Given the description of an element on the screen output the (x, y) to click on. 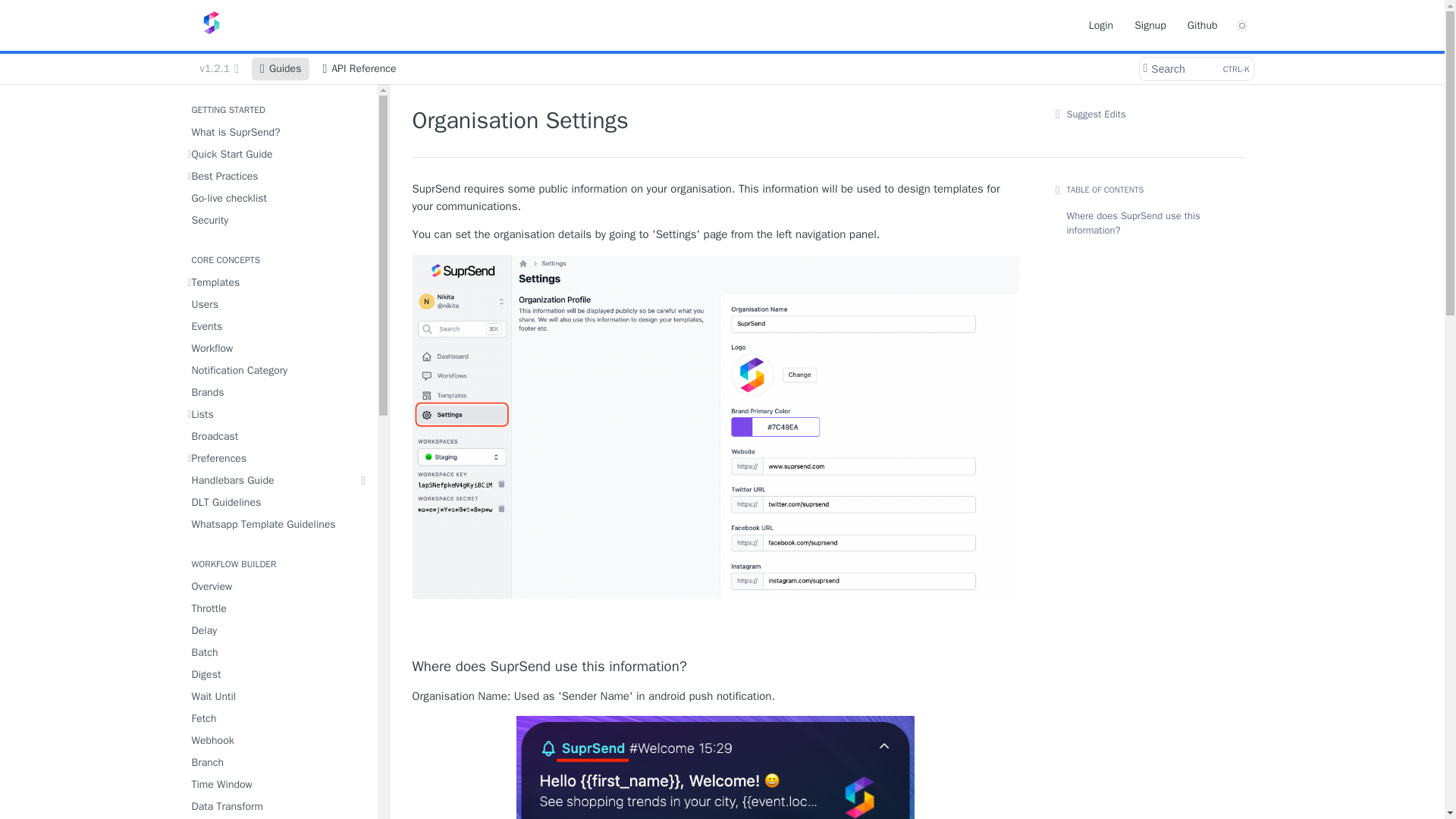
v1.2.1 (218, 68)
Github (1202, 24)
Security (277, 219)
Quick Start Guide (277, 154)
Templates (277, 281)
What is SuprSend? (277, 132)
Best Practices (277, 176)
Guides (279, 68)
Go-live checklist (277, 198)
Login (1100, 24)
